Given the description of an element on the screen output the (x, y) to click on. 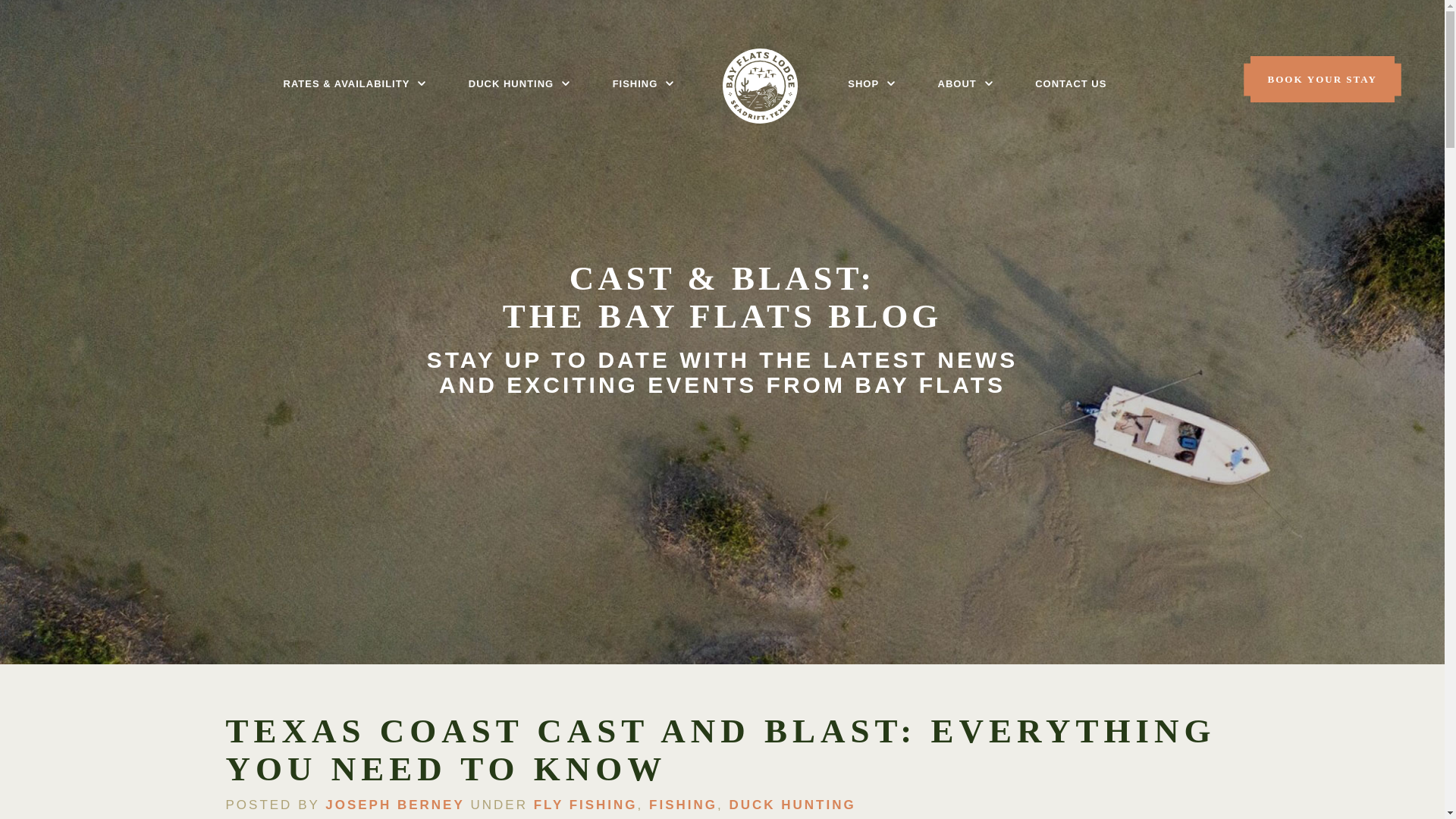
BOOK YOUR STAY (1321, 79)
FISHING (635, 85)
DUCK HUNTING (510, 85)
